Given the description of an element on the screen output the (x, y) to click on. 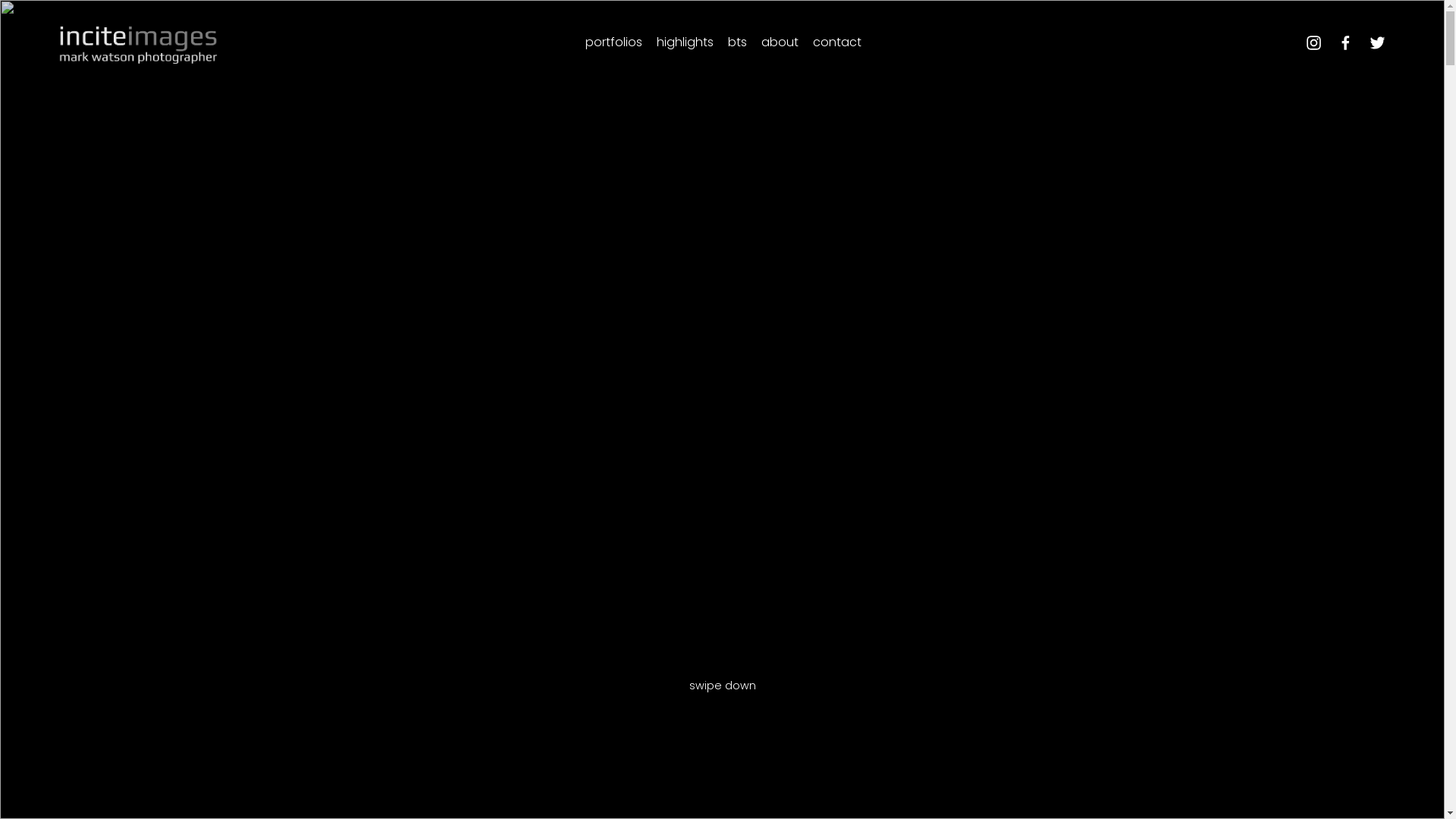
about Element type: text (779, 42)
bts Element type: text (737, 42)
contact Element type: text (836, 42)
portfolios Element type: text (613, 42)
highlights Element type: text (684, 42)
